Given the description of an element on the screen output the (x, y) to click on. 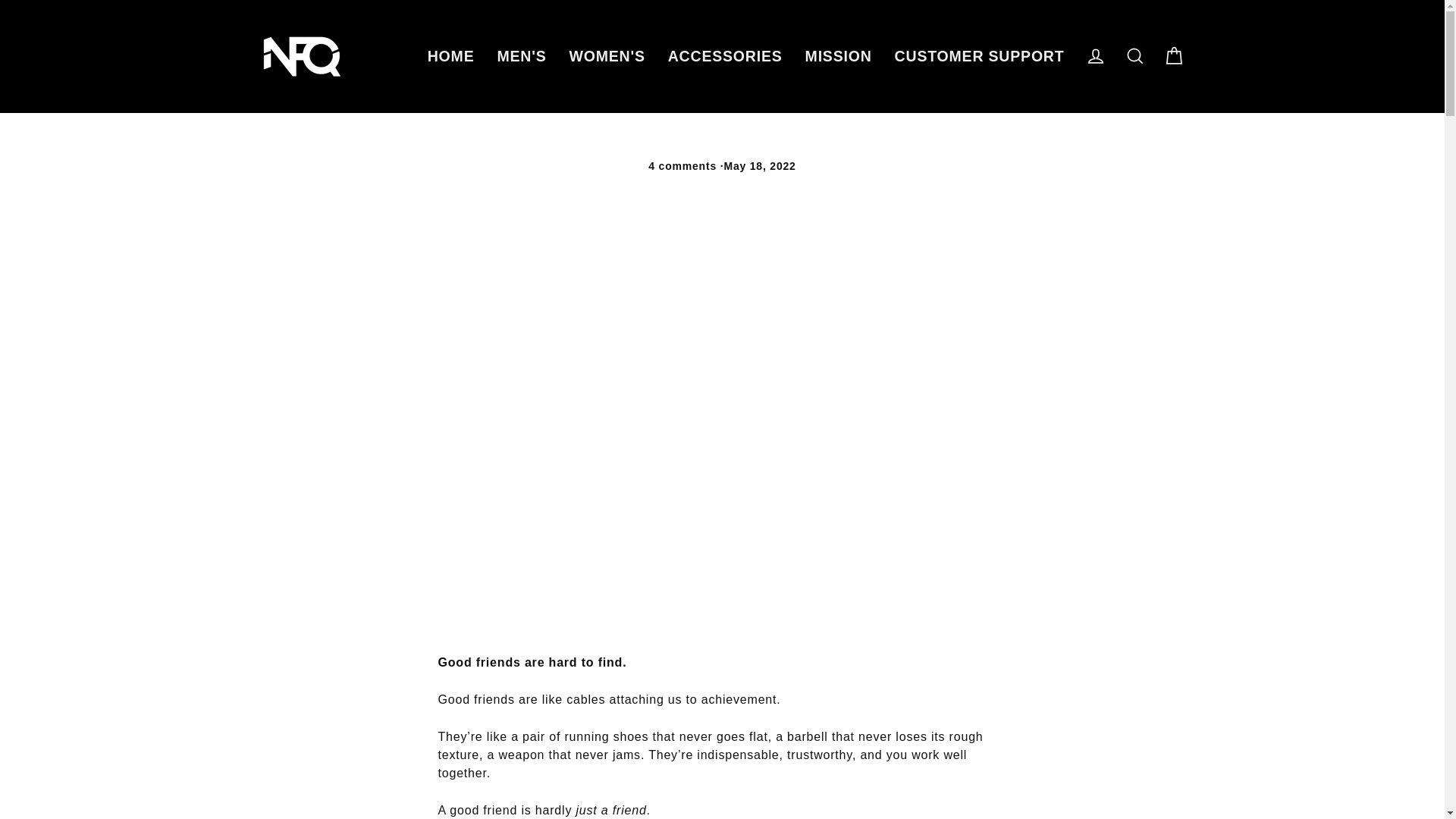
MEN'S (520, 55)
ACCESSORIES (724, 55)
WOMEN'S (606, 55)
MISSION (838, 55)
HOME (451, 55)
